Given the description of an element on the screen output the (x, y) to click on. 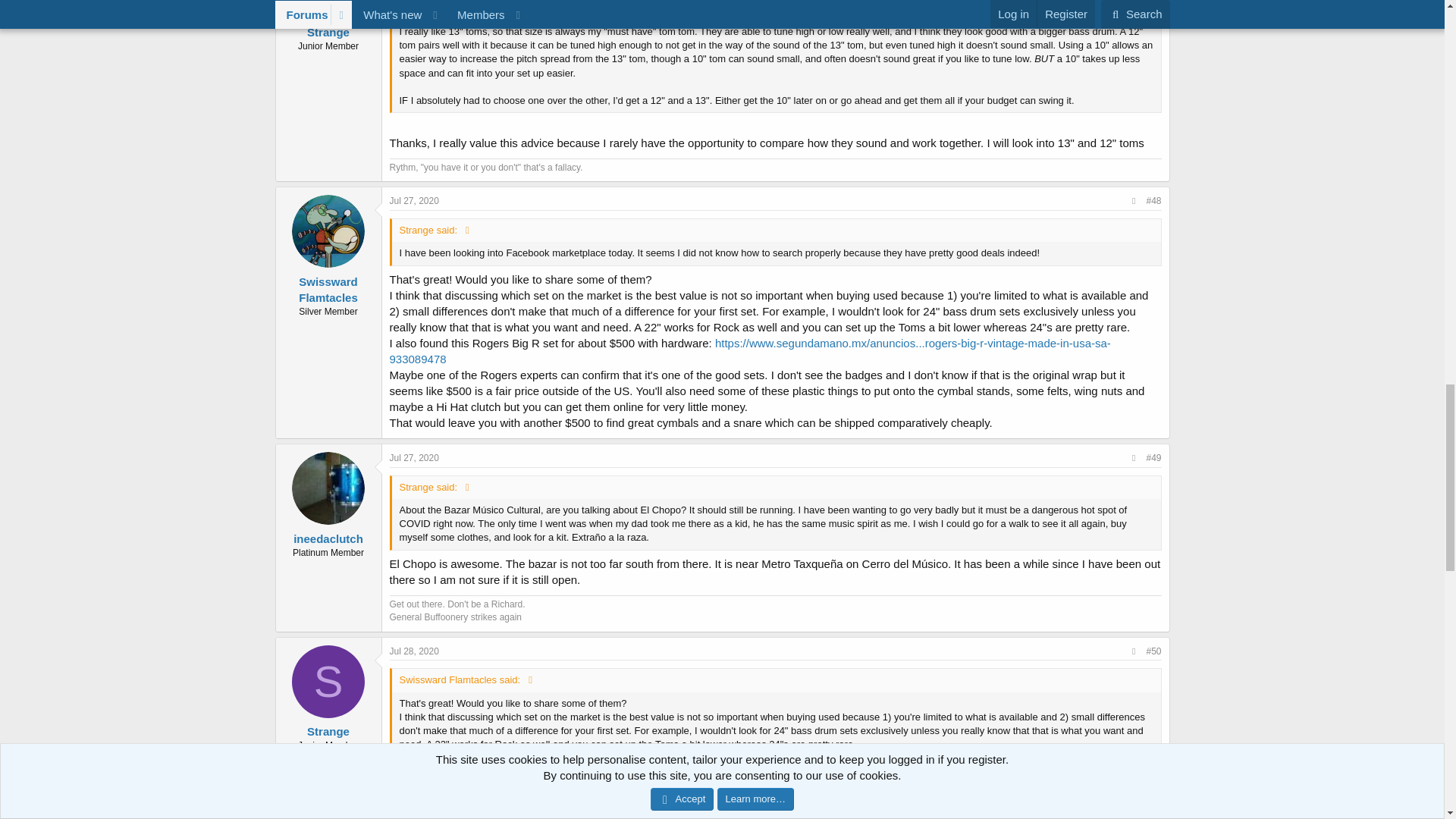
Jul 27, 2020 at 6:06 AM (414, 200)
